Given the description of an element on the screen output the (x, y) to click on. 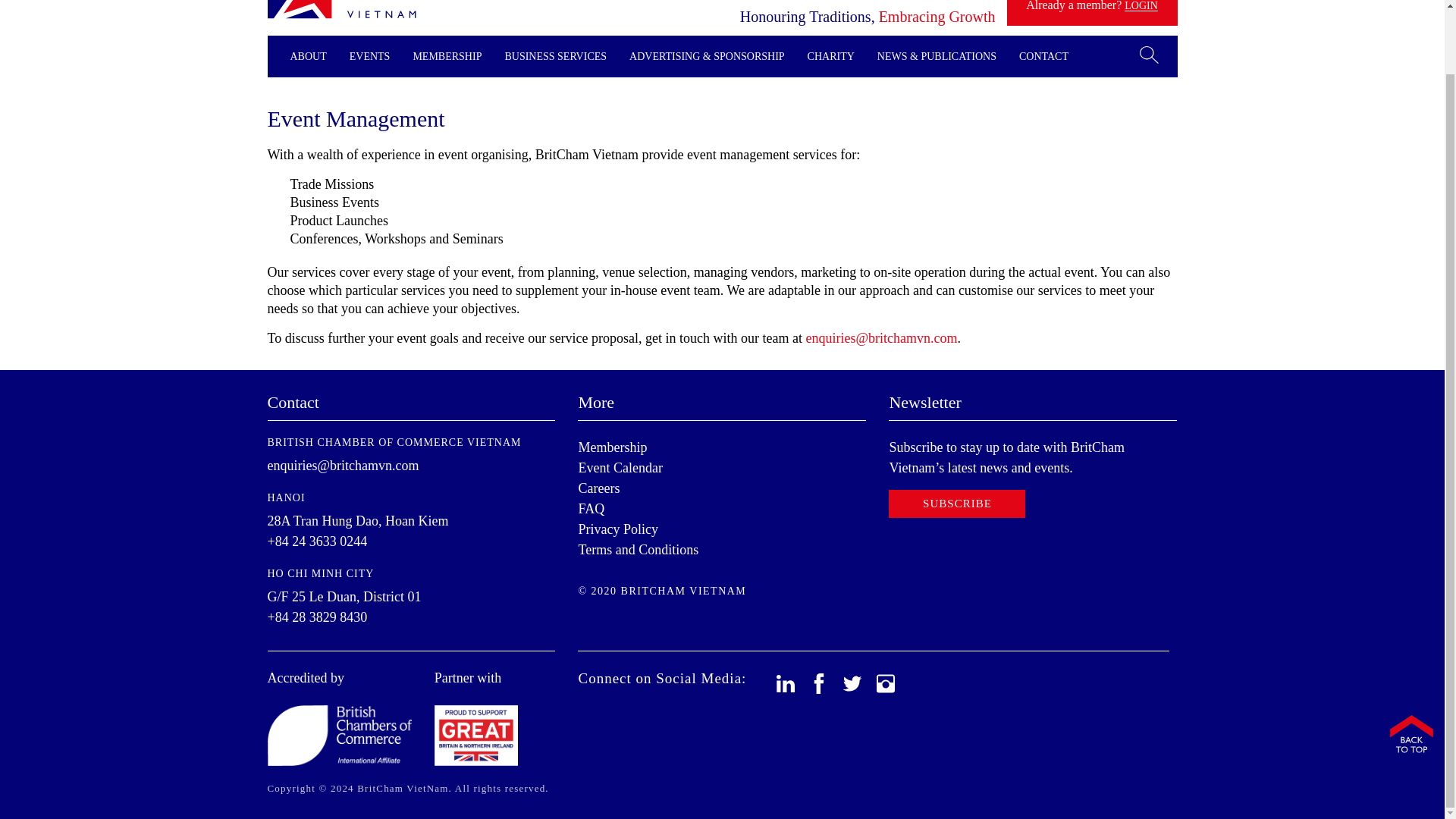
BUSINESS SERVICES (555, 56)
Privacy Policy (618, 529)
Membership (612, 447)
CHARITY (831, 56)
LOGIN (1140, 5)
CONTACT (1043, 56)
FAQ (591, 508)
ABOUT (308, 56)
Careers (599, 488)
MEMBERSHIP (447, 56)
EVENTS (369, 56)
Event Calendar (620, 467)
